Given the description of an element on the screen output the (x, y) to click on. 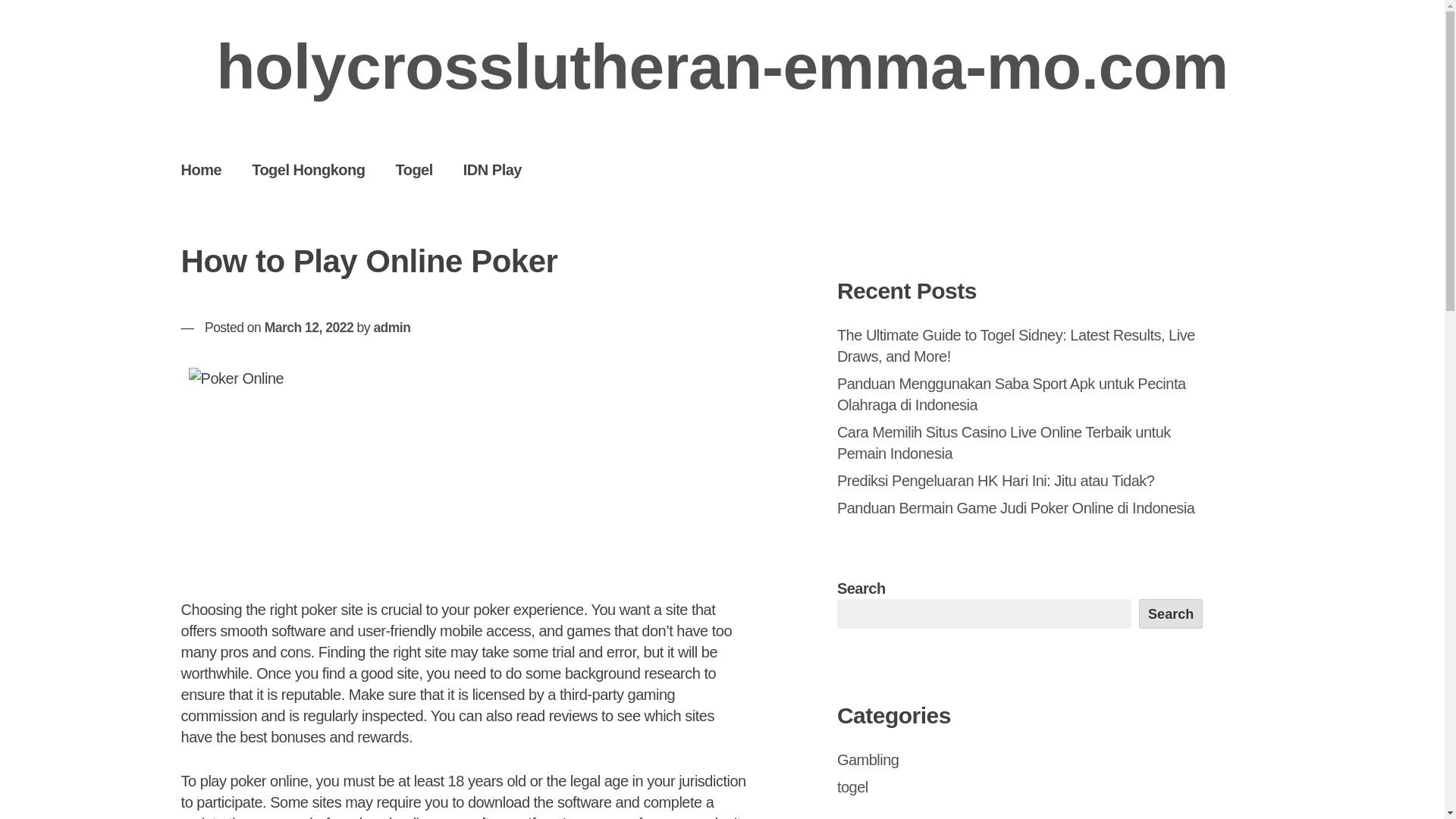
Panduan Bermain Game Judi Poker Online di Indonesia (1015, 507)
admin (391, 327)
Prediksi Pengeluaran HK Hari Ini: Jitu atau Tidak? (995, 480)
Search (1171, 613)
holycrosslutheran-emma-mo.com (721, 66)
IDN Play (492, 169)
March 12, 2022 (308, 327)
Togel (413, 169)
Home (201, 169)
togel (852, 786)
Togel Hongkong (307, 169)
Gambling (868, 759)
